Given the description of an element on the screen output the (x, y) to click on. 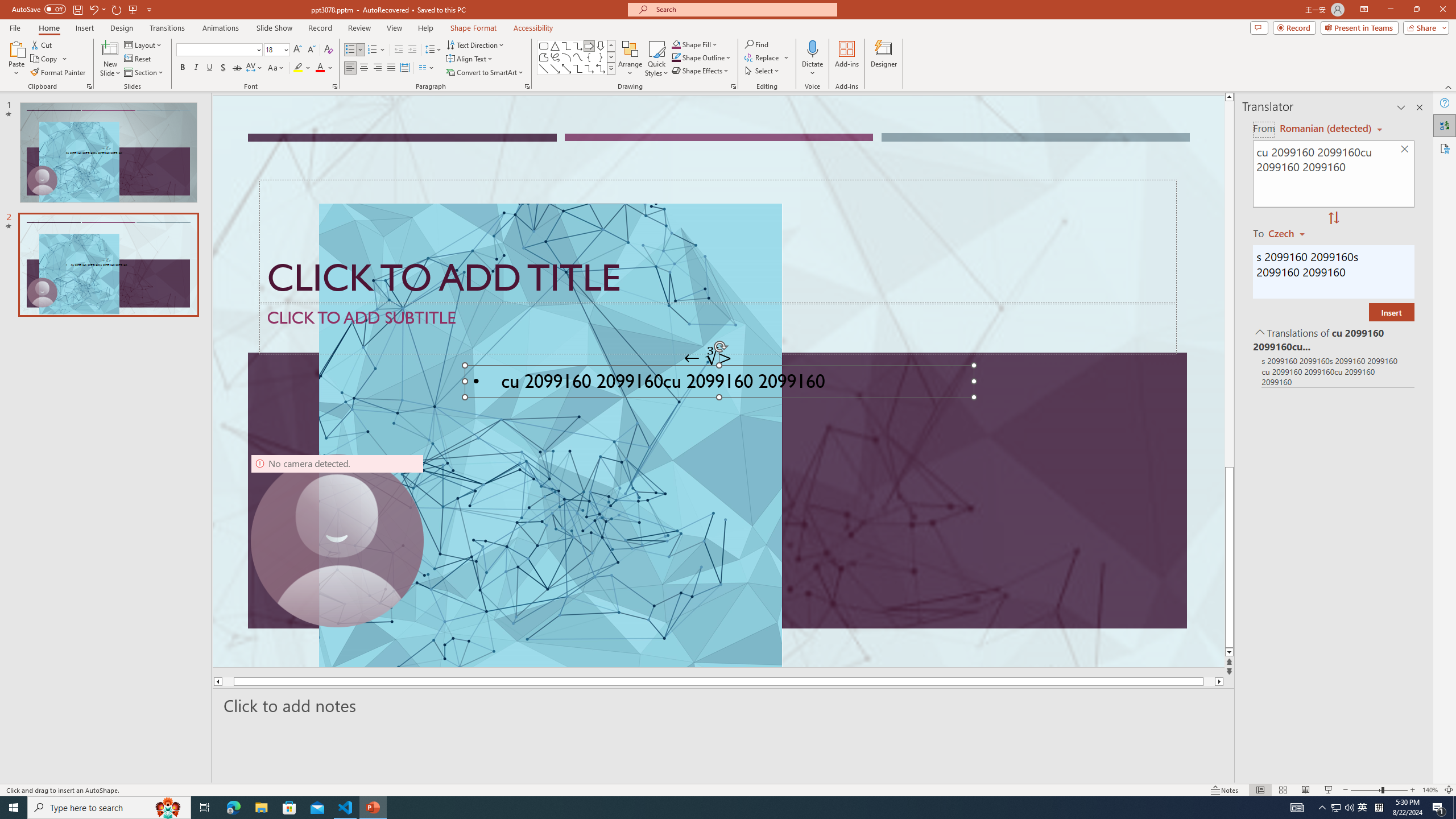
Zoom 140% (1430, 790)
